Given the description of an element on the screen output the (x, y) to click on. 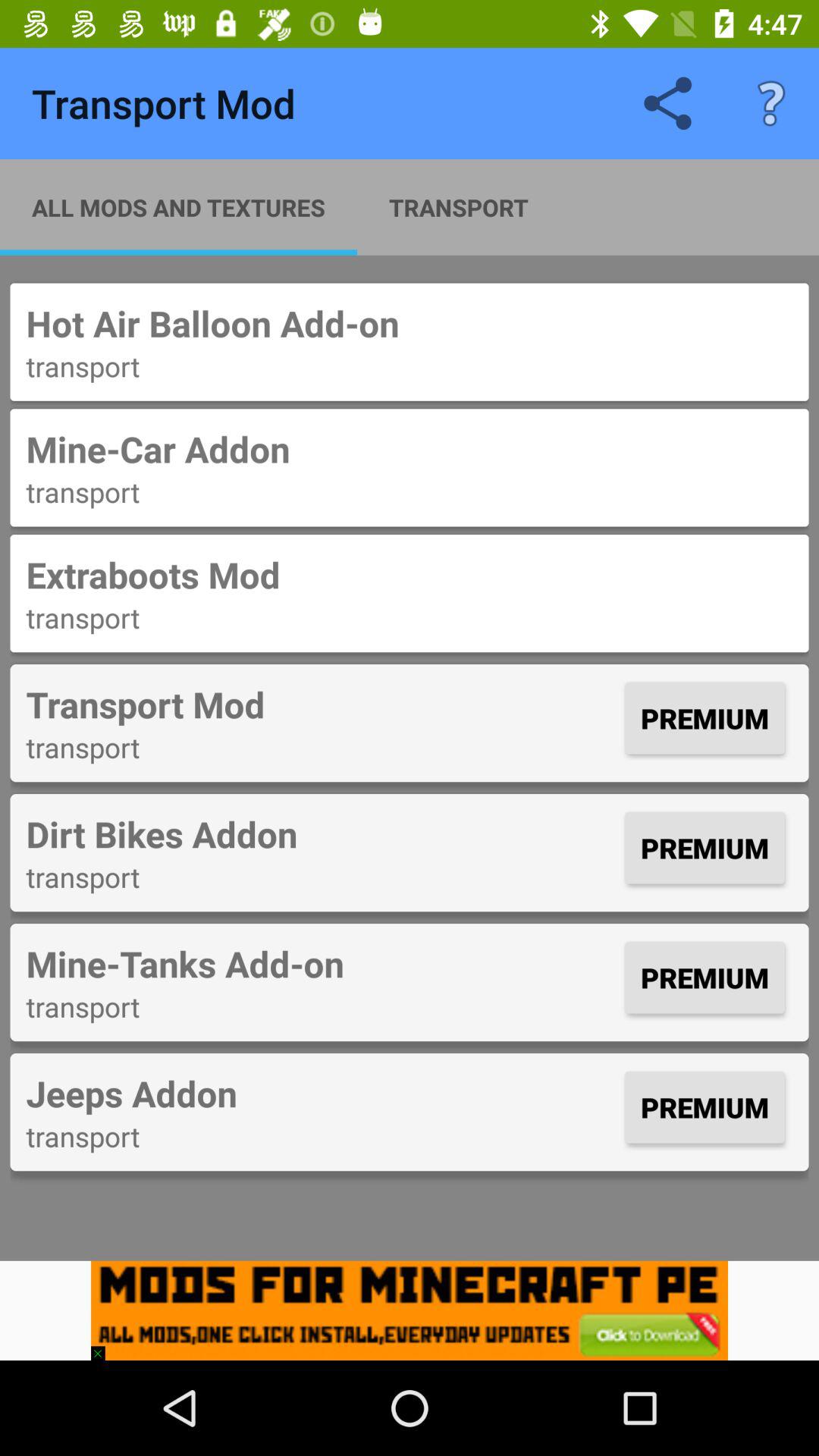
choose the item below transport icon (409, 574)
